Given the description of an element on the screen output the (x, y) to click on. 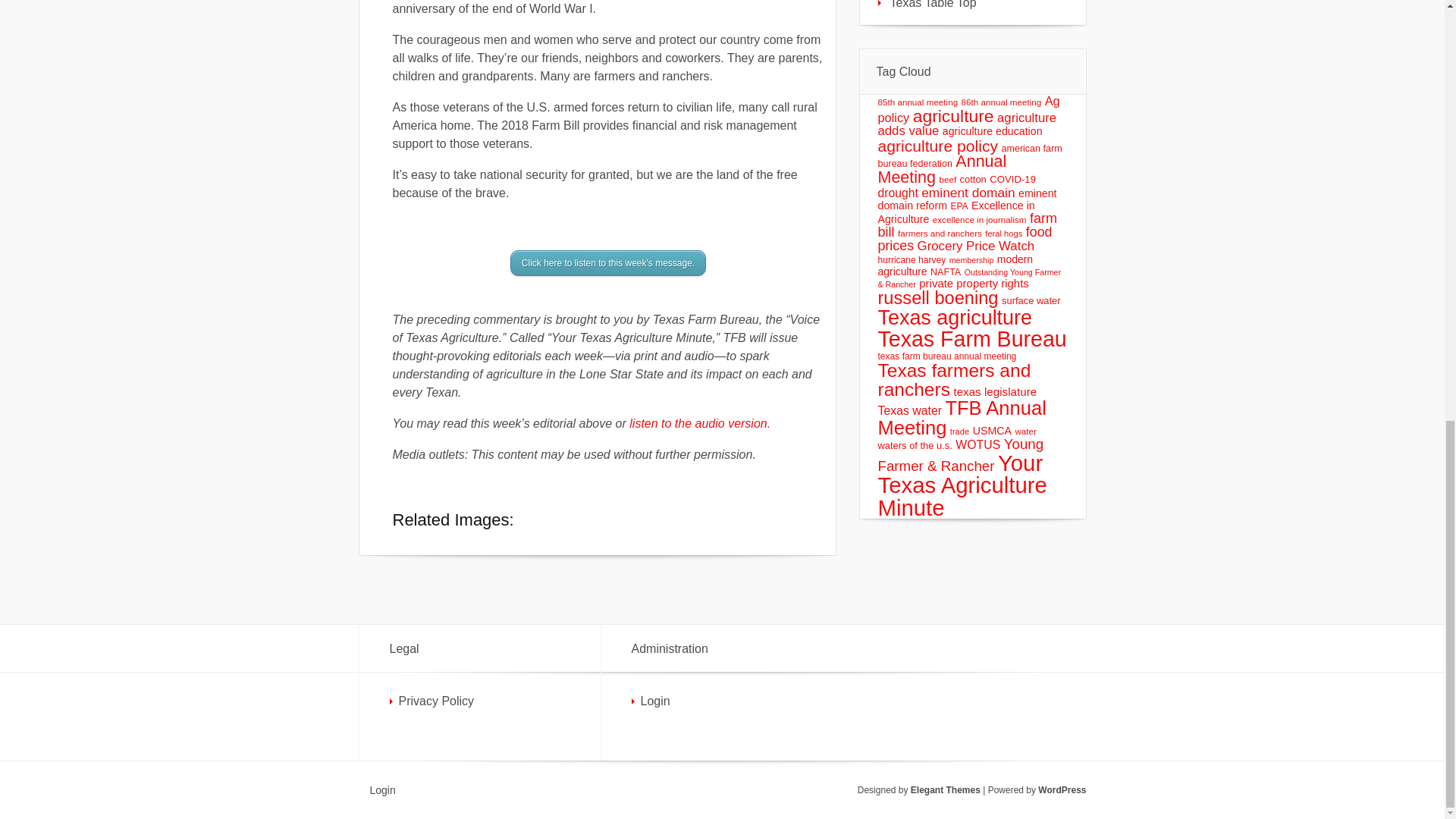
Texas Table Top (973, 12)
Click here to listen to this week's message. (608, 263)
85th annual meeting (917, 102)
listen to the audio version. (699, 422)
Premium WordPress Themes (945, 789)
